Given the description of an element on the screen output the (x, y) to click on. 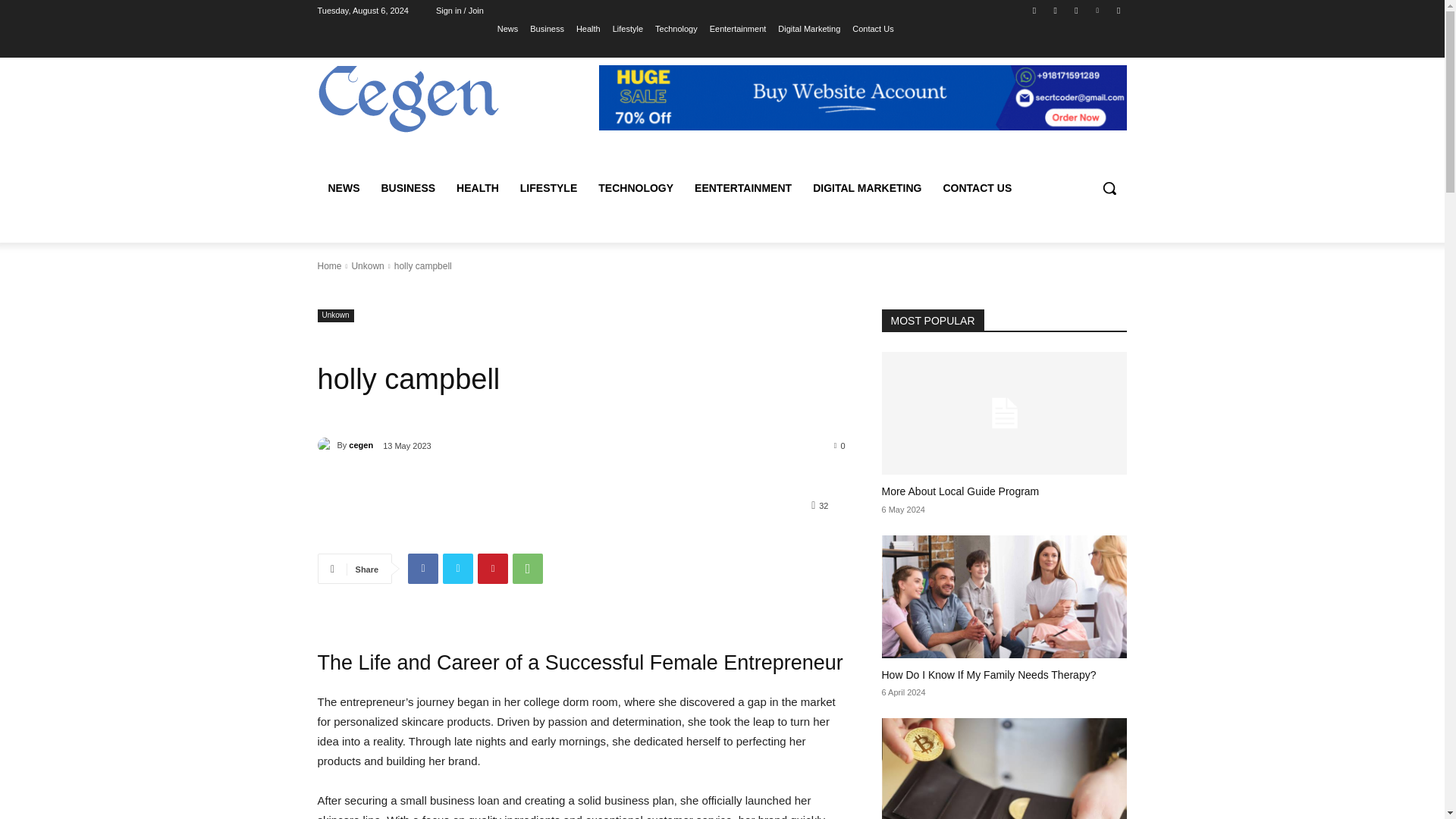
Facebook (422, 568)
cegen (326, 444)
Technology (676, 28)
Facebook (1034, 9)
NEWS (343, 187)
WhatsApp (527, 568)
Eentertainment (738, 28)
Instagram (1055, 9)
Health (587, 28)
Vimeo (1097, 9)
